Given the description of an element on the screen output the (x, y) to click on. 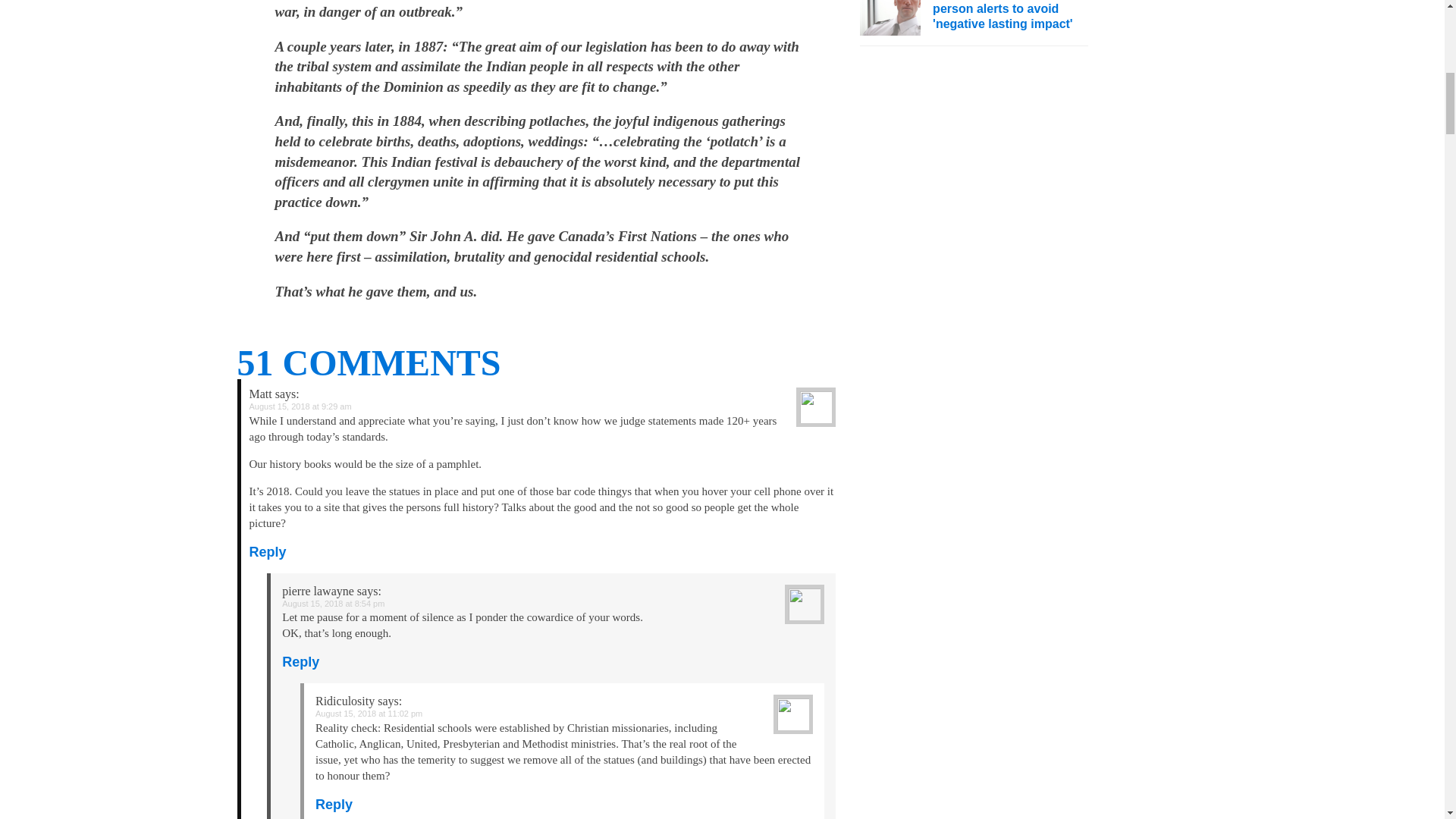
August 15, 2018 at 11:02 pm (368, 713)
Reply (266, 551)
Reply (333, 804)
August 15, 2018 at 8:54 pm (333, 603)
August 15, 2018 at 9:29 am (299, 406)
Reply (300, 661)
